Given the description of an element on the screen output the (x, y) to click on. 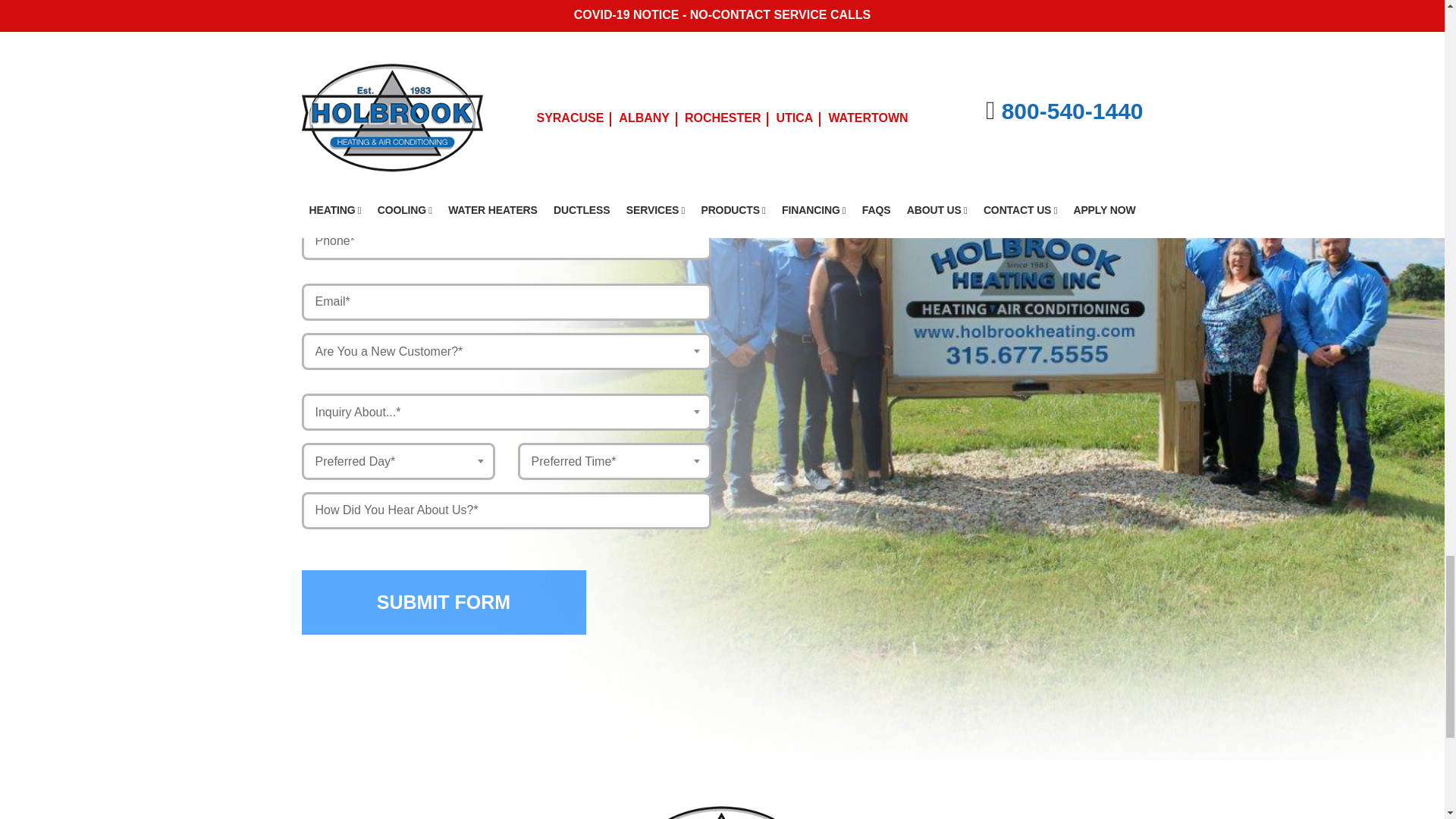
Submit Form (443, 602)
